Given the description of an element on the screen output the (x, y) to click on. 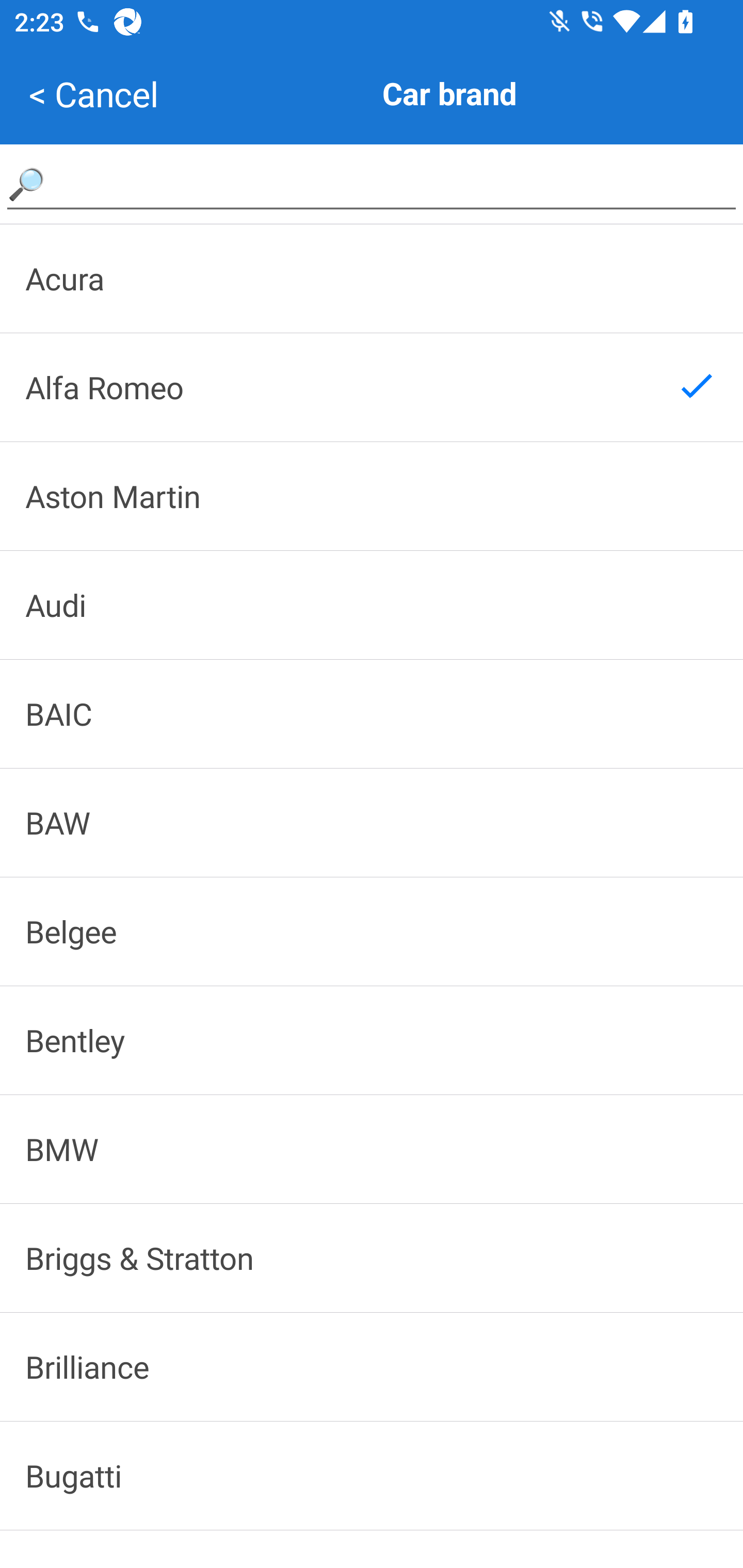
< Cancel (93, 93)
🔎 (371, 183)
Acura (371, 278)
Alfa Romeo (371, 387)
Aston Martin (371, 496)
Audi (371, 604)
BAIC (371, 714)
BAW (371, 822)
Belgee (371, 932)
Bentley (371, 1040)
BMW (371, 1148)
Briggs & Stratton (371, 1258)
Brilliance (371, 1366)
Bugatti (371, 1476)
